Given the description of an element on the screen output the (x, y) to click on. 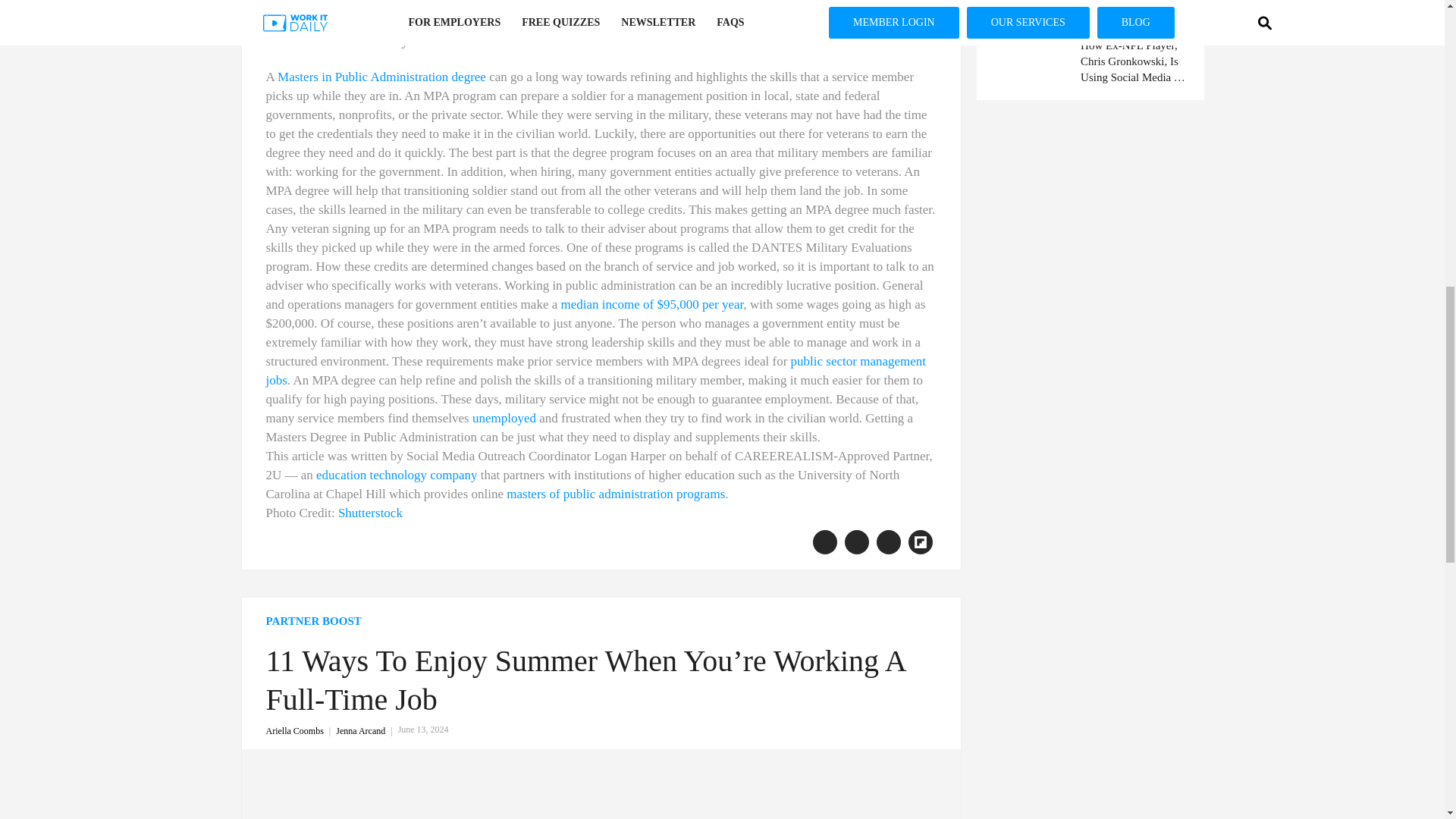
public sector management jobs (595, 370)
education technology company (396, 474)
Shutterstock (370, 513)
unemployed (503, 418)
masters of public administration programs (615, 493)
Masters in Public Administration degree (382, 76)
